Given the description of an element on the screen output the (x, y) to click on. 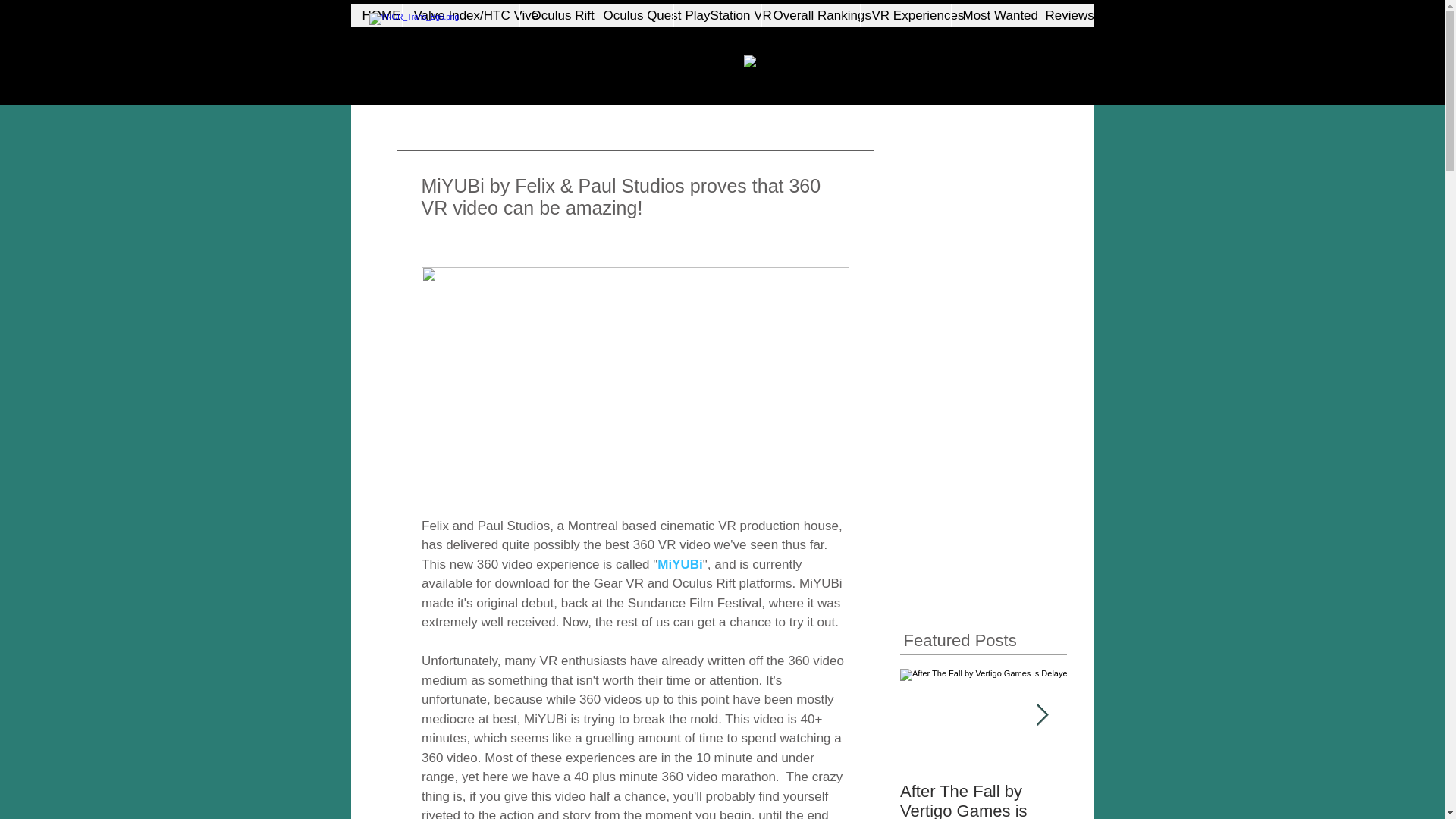
HOME (375, 15)
PlayStation VR (716, 15)
Overall Rankings (810, 15)
Oculus Quest (631, 15)
Oculus Rift (554, 15)
